Given the description of an element on the screen output the (x, y) to click on. 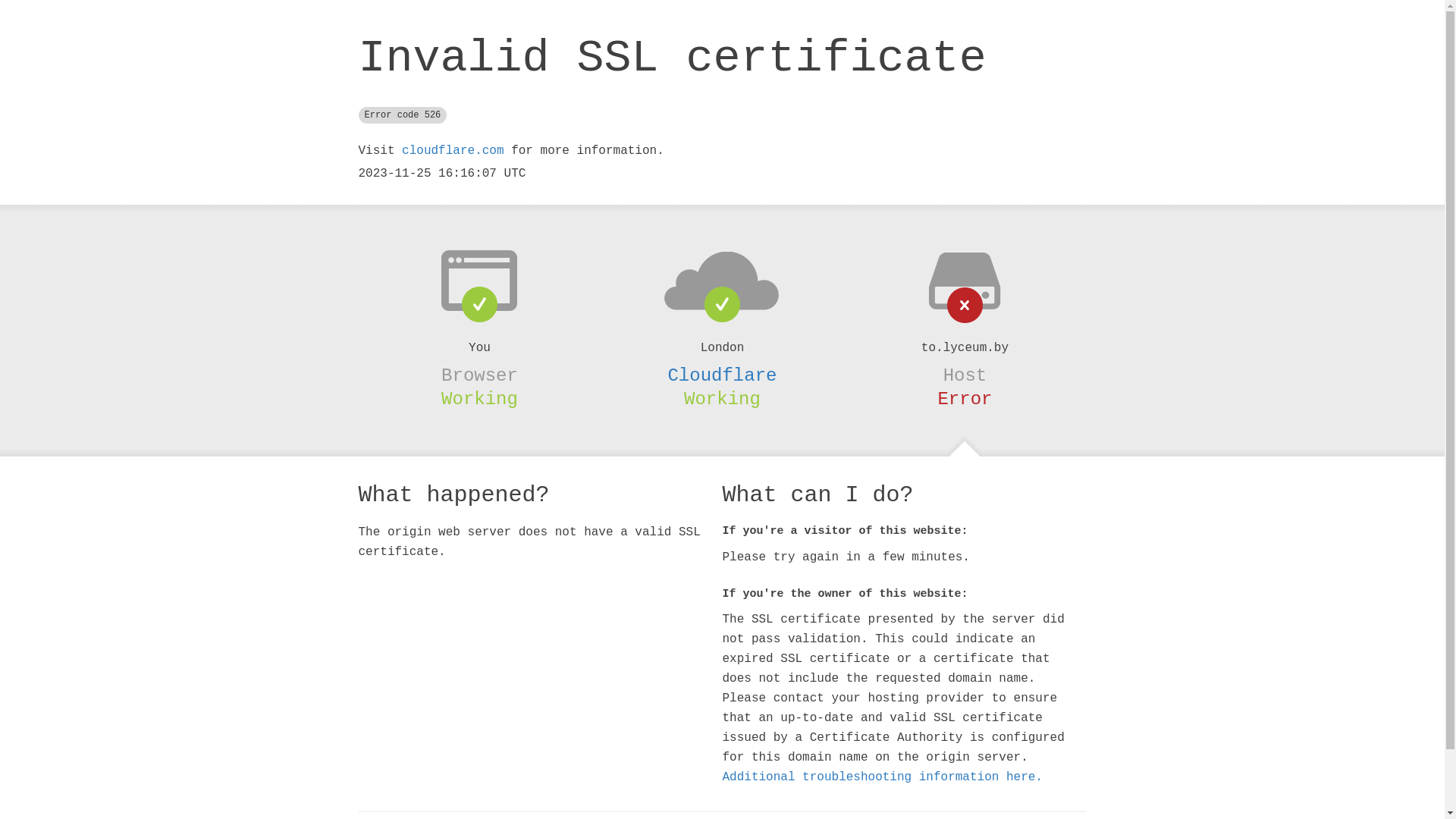
Cloudflare Element type: text (721, 375)
cloudflare.com Element type: text (452, 150)
Additional troubleshooting information here. Element type: text (881, 777)
